Given the description of an element on the screen output the (x, y) to click on. 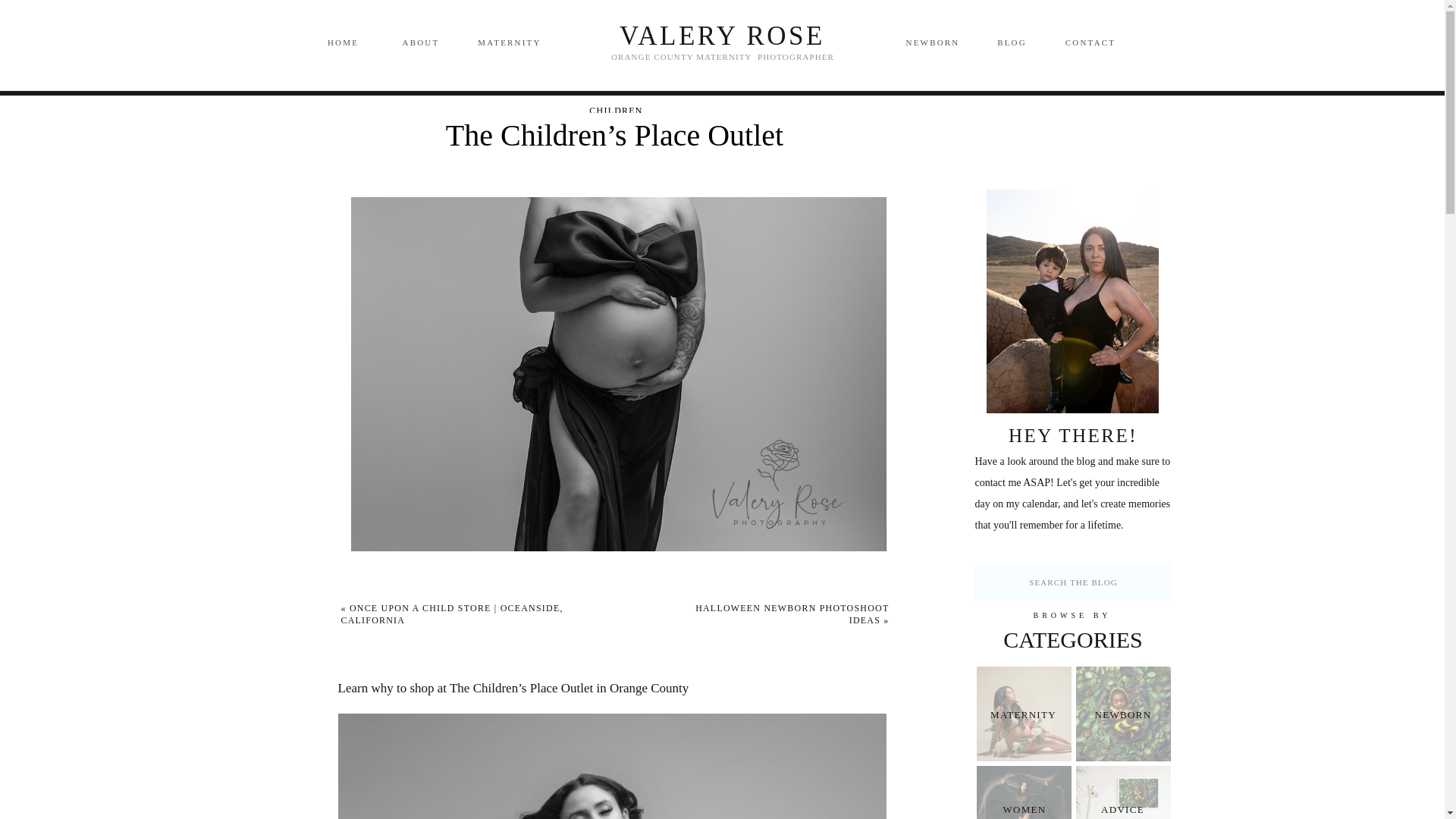
CONTACT (1090, 43)
WOMEN (1023, 808)
HALLOWEEN NEWBORN PHOTOSHOOT IDEAS (791, 613)
ADVICE (1122, 809)
NEWBORN (1123, 715)
ABOUT (420, 41)
HOME (343, 42)
MATERNITY (1023, 713)
NEWBORN (931, 42)
MATERNITY (509, 43)
CHILDREN (615, 110)
VALERY ROSE (722, 34)
BLOG (1011, 41)
